Given the description of an element on the screen output the (x, y) to click on. 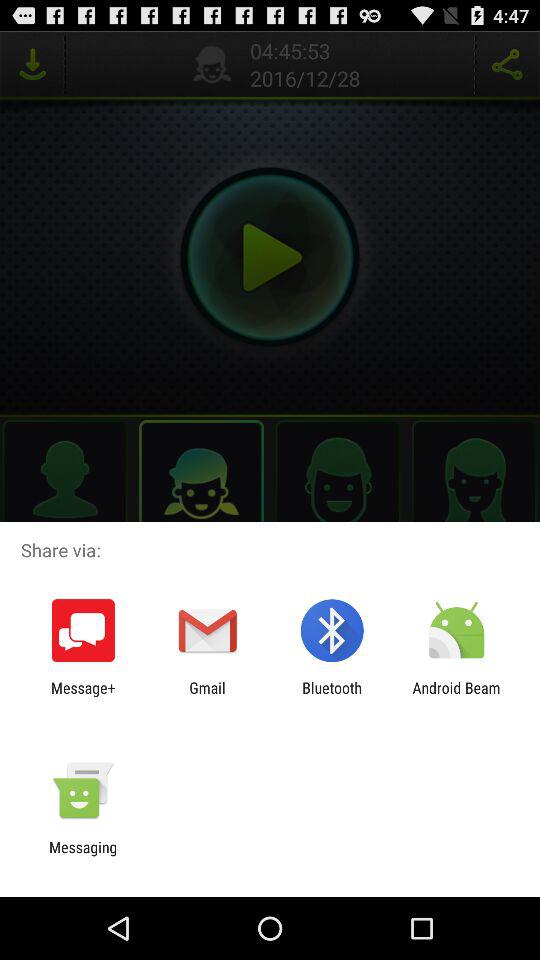
flip to messaging item (83, 856)
